Given the description of an element on the screen output the (x, y) to click on. 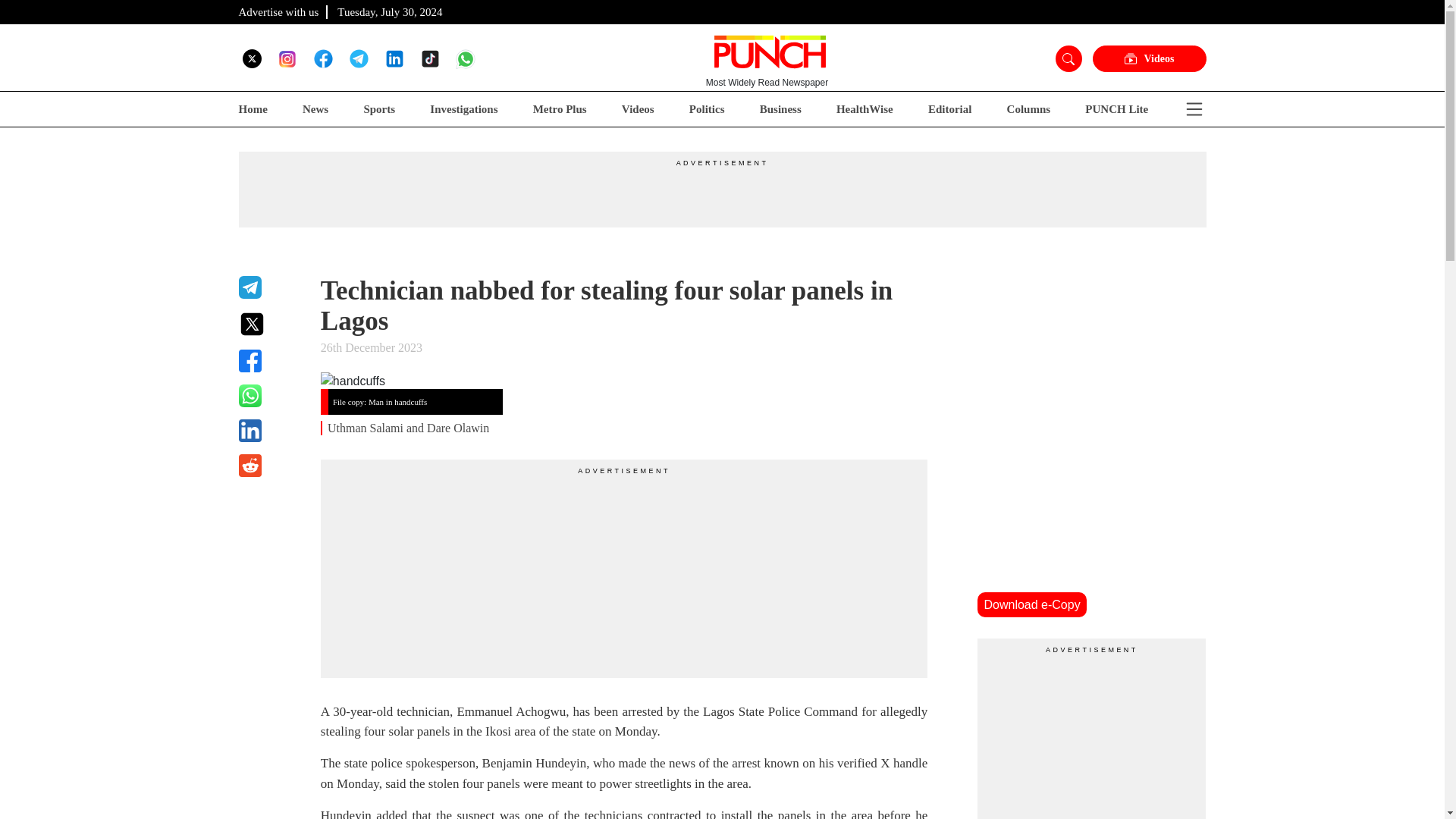
Share on Linkedin (269, 430)
Follow us on Linkedin (395, 58)
Follow us on Tiktok (430, 58)
Metro Plus (559, 109)
Follow Us on Facebook (323, 58)
Home (252, 109)
Share on Reddit (269, 465)
Advertise with us (278, 11)
Editorial (950, 109)
Videos (1148, 58)
Columns (1029, 109)
Tuesday, July 30, 2024 (389, 11)
Follow us on our Whatsapp Channel (465, 57)
Sports (378, 109)
Share on Twitter (269, 324)
